Given the description of an element on the screen output the (x, y) to click on. 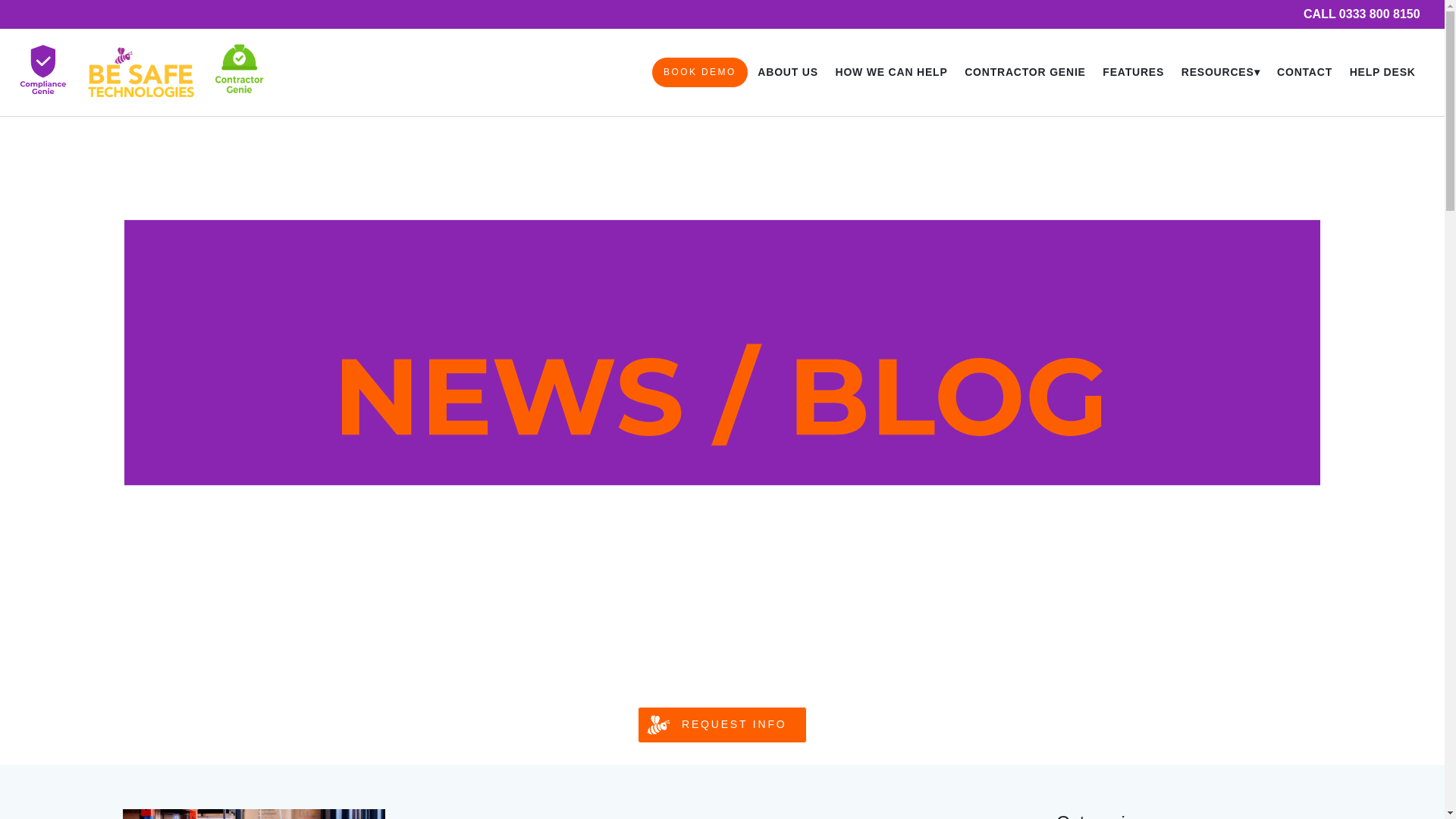
FEATURES (1133, 72)
RESOURCES (1219, 72)
ABOUT US (787, 72)
CONTACT (1305, 72)
REQUEST INFO (721, 724)
HELP DESK (1382, 72)
BOOK DEMO (699, 72)
HOW WE CAN HELP (890, 72)
0333 800 8150 (1362, 13)
CONTRACTOR GENIE (1024, 72)
